Given the description of an element on the screen output the (x, y) to click on. 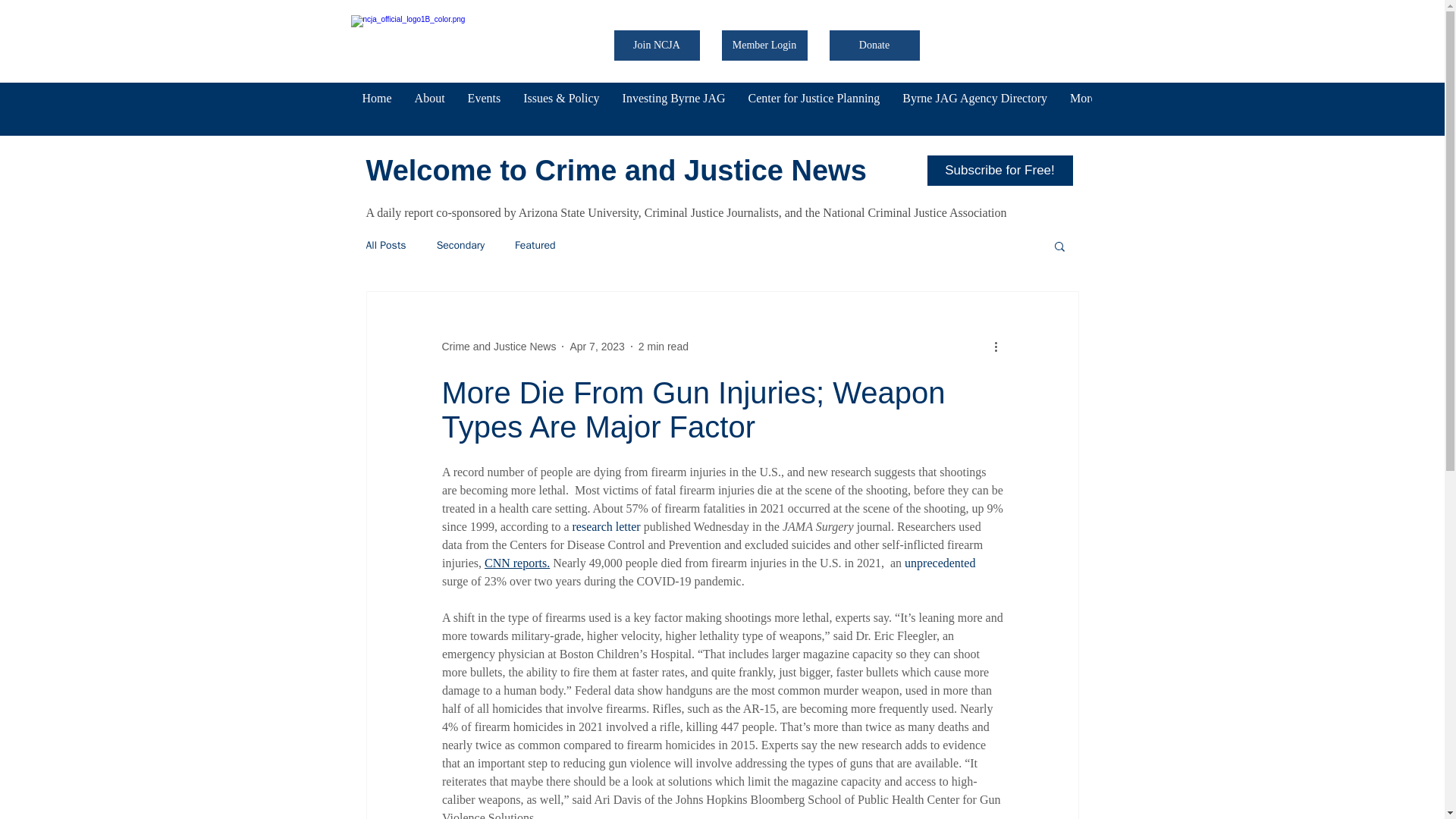
Member Login (765, 45)
Join NCJA (657, 45)
Center for Justice Planning (813, 108)
Events (484, 108)
Crime and Justice News (498, 346)
About (430, 108)
2 min read (663, 346)
Donate (874, 45)
Home (376, 108)
Investing Byrne JAG (673, 108)
